Given the description of an element on the screen output the (x, y) to click on. 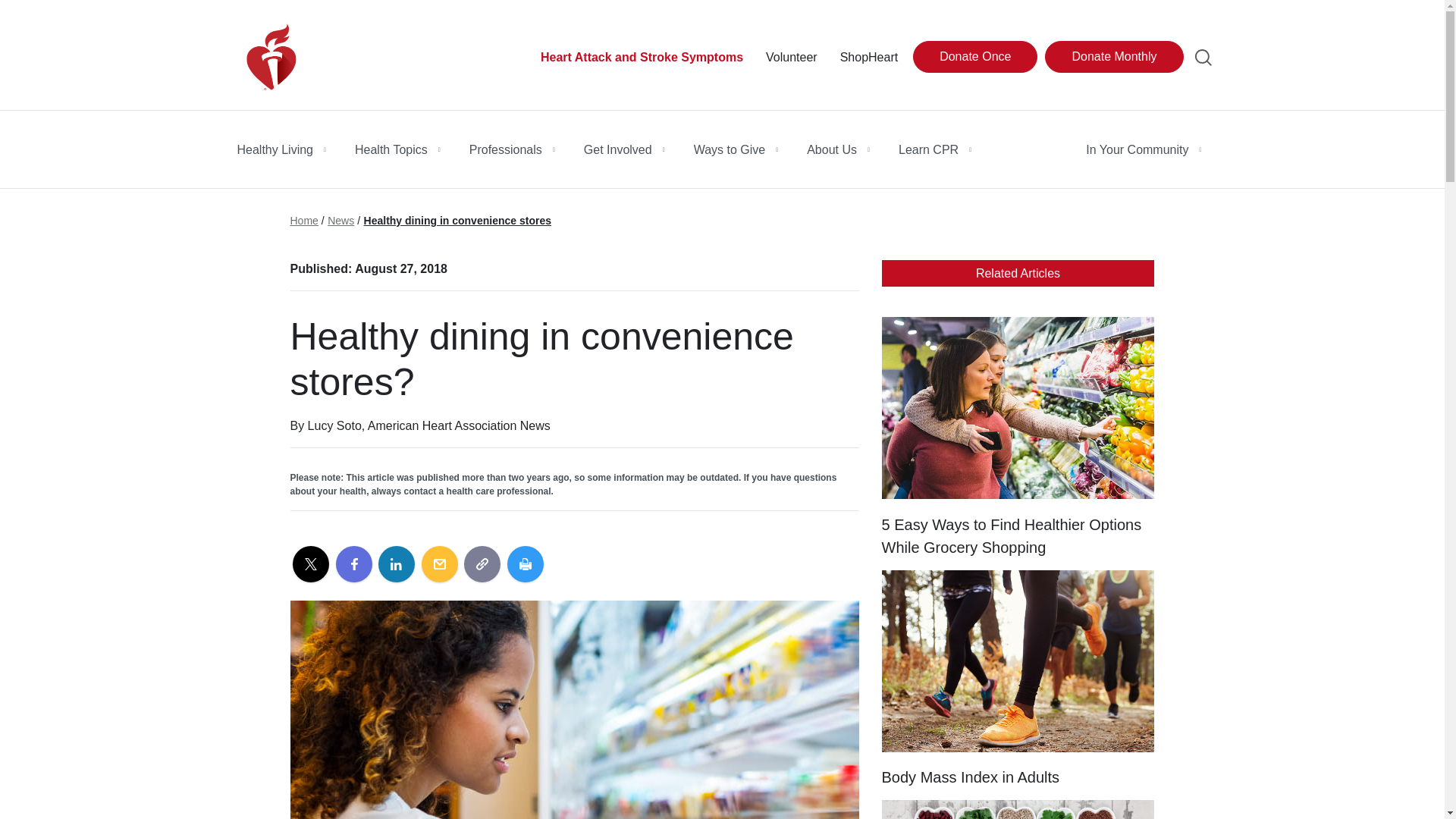
Volunteer (790, 57)
Heart Attack and Stroke Symptoms (641, 57)
Donate Once (974, 56)
Search (1203, 57)
ShopHeart (869, 57)
Donate Monthly (1113, 56)
